Given the description of an element on the screen output the (x, y) to click on. 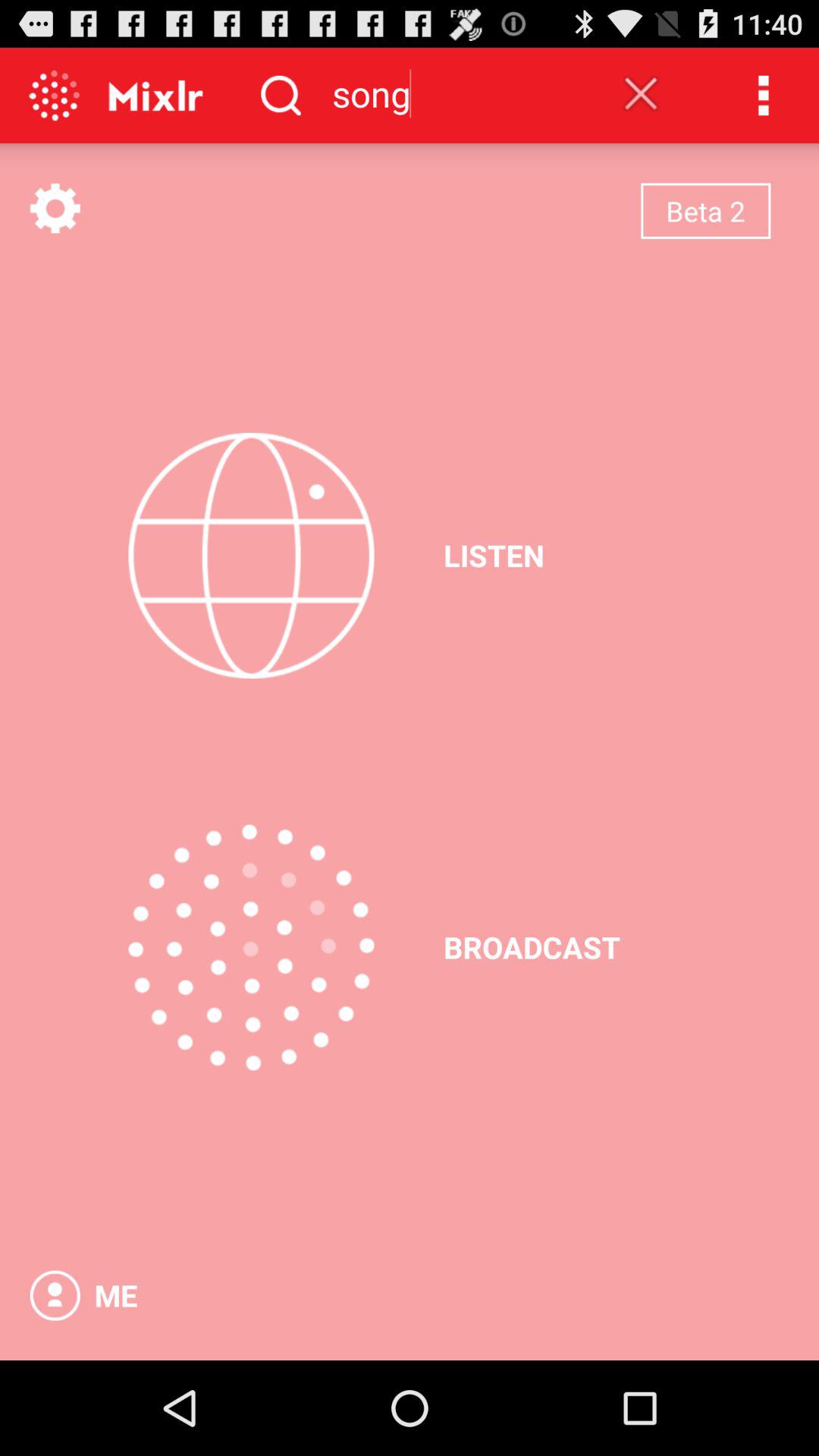
choose the icon to the left of broadcast item (251, 947)
